Given the description of an element on the screen output the (x, y) to click on. 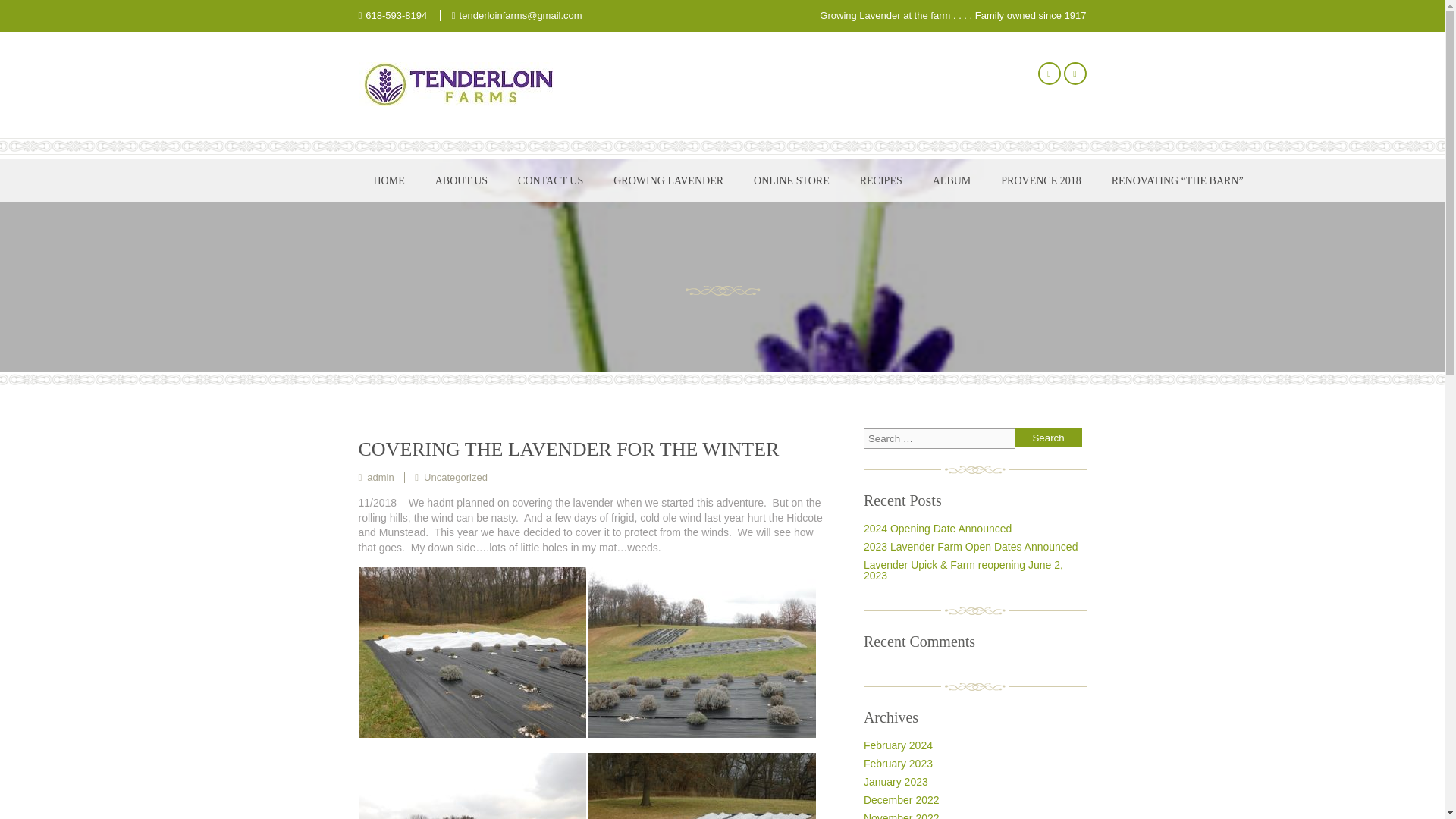
ONLINE STORE (791, 180)
Search (1047, 437)
Search (1047, 437)
CONTACT US (550, 180)
PROVENCE 2018 (1040, 180)
ALBUM (952, 180)
HOME (388, 180)
ABOUT US (461, 180)
618-593-8194 (395, 15)
RECIPES (880, 180)
GROWING LAVENDER (668, 180)
